Given the description of an element on the screen output the (x, y) to click on. 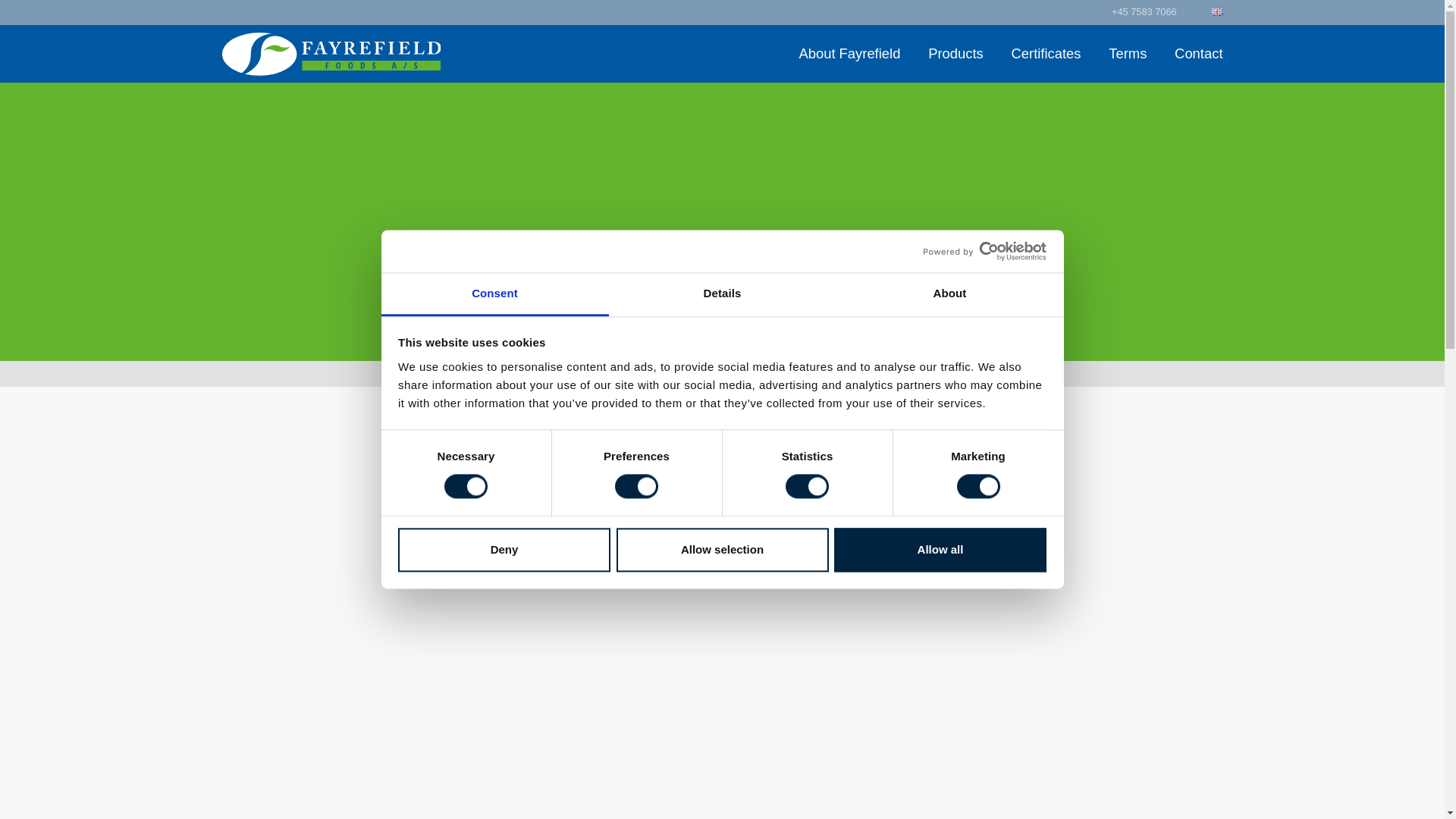
Allow selection (721, 549)
About (948, 294)
Allow all (940, 549)
Deny (503, 549)
Details (721, 294)
Consent (494, 294)
